Given the description of an element on the screen output the (x, y) to click on. 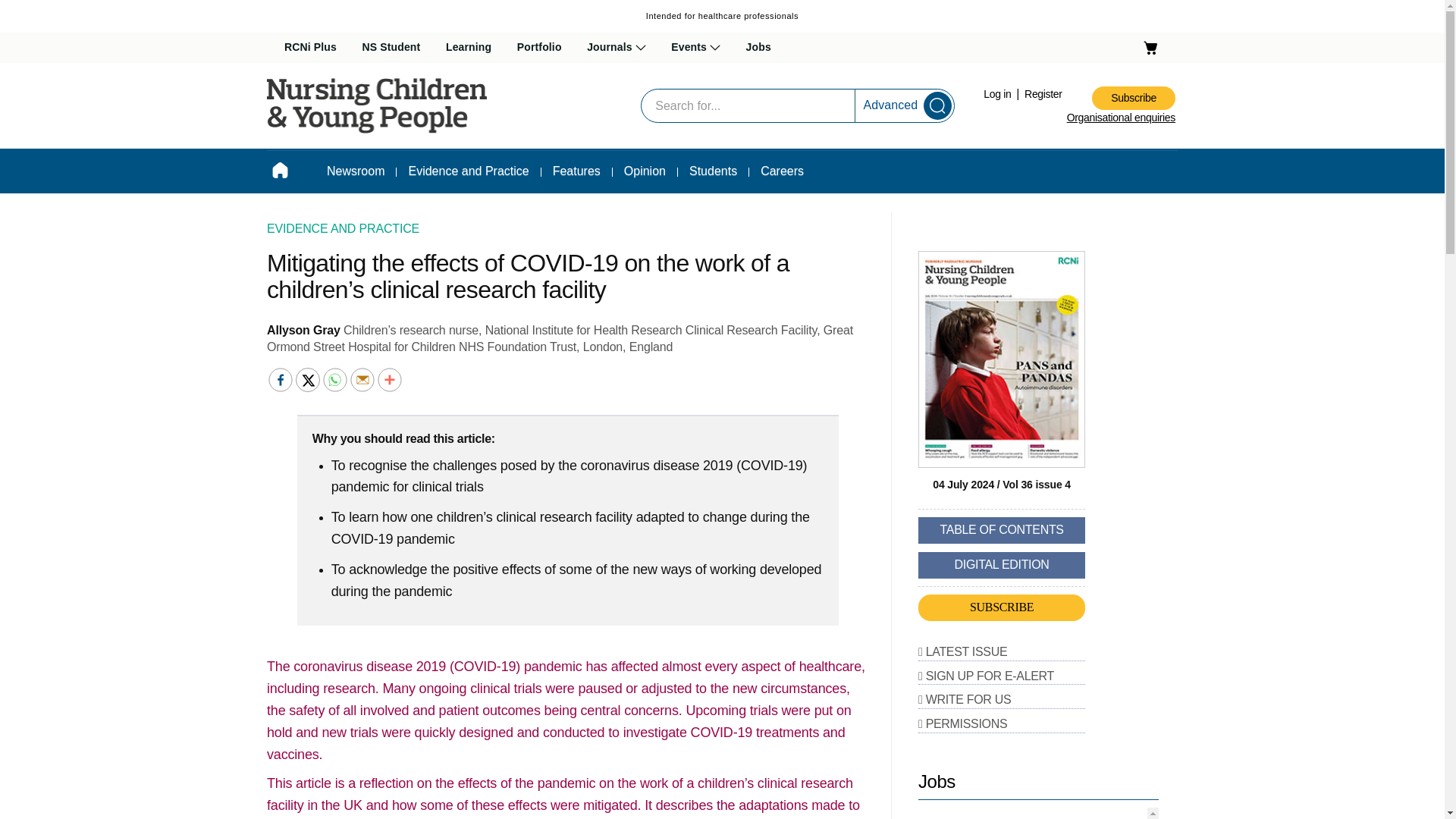
Events (695, 47)
Log in (998, 93)
RCNi Plus (309, 47)
More... (389, 379)
Advanced (890, 104)
Newsroom (355, 171)
Register (1043, 93)
Whatsapp (335, 379)
Journals (616, 47)
Subscribe (1133, 97)
